Given the description of an element on the screen output the (x, y) to click on. 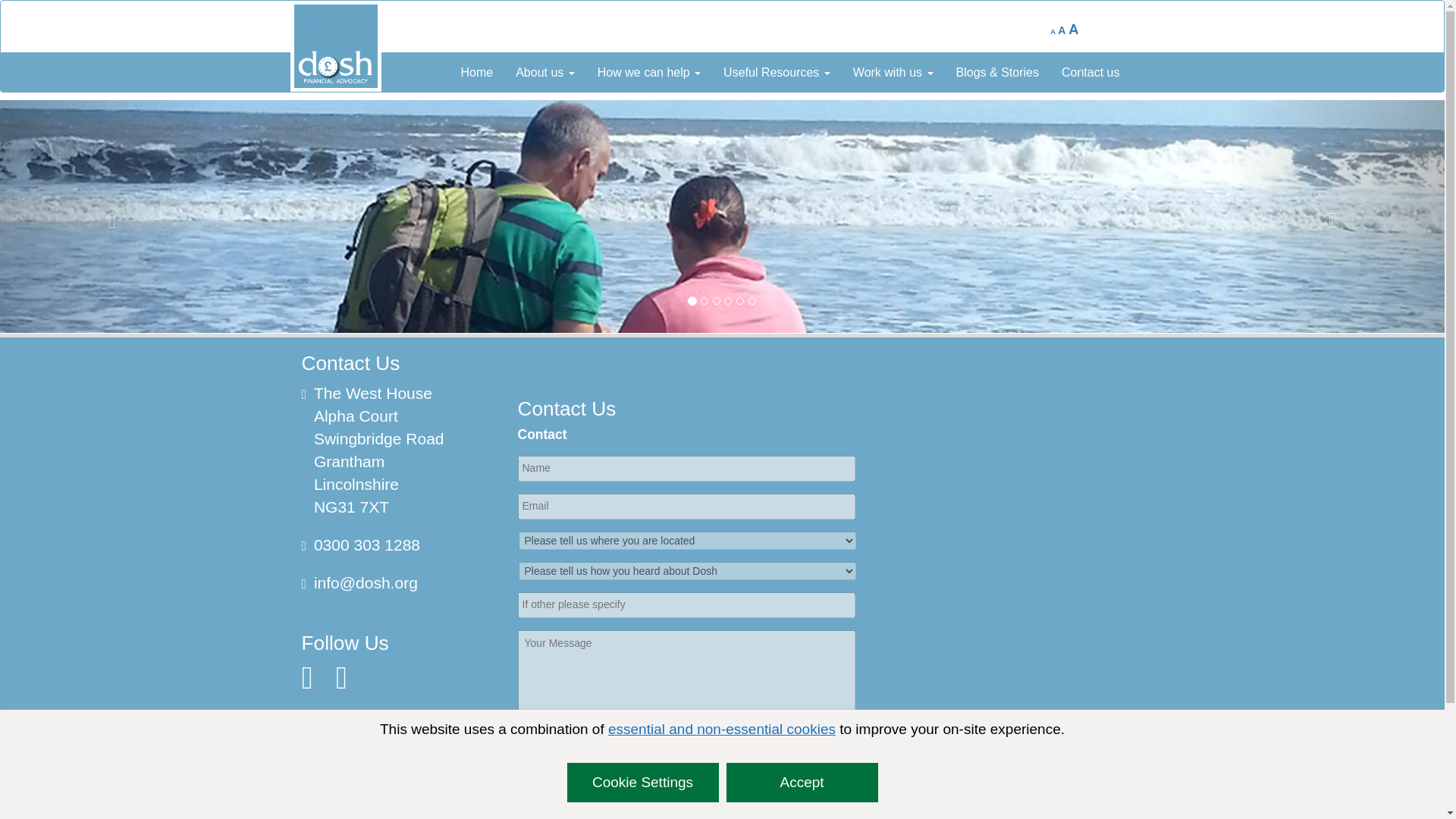
About us (544, 72)
Cookie Settings (643, 782)
Home (475, 72)
Useful Resources (776, 72)
Work with us (892, 72)
How we can help (648, 72)
Contact us (1090, 72)
About us (544, 72)
essential and non-essential cookies (721, 729)
Home (475, 72)
Submit (685, 780)
Submit (685, 780)
How we can help (648, 72)
